Given the description of an element on the screen output the (x, y) to click on. 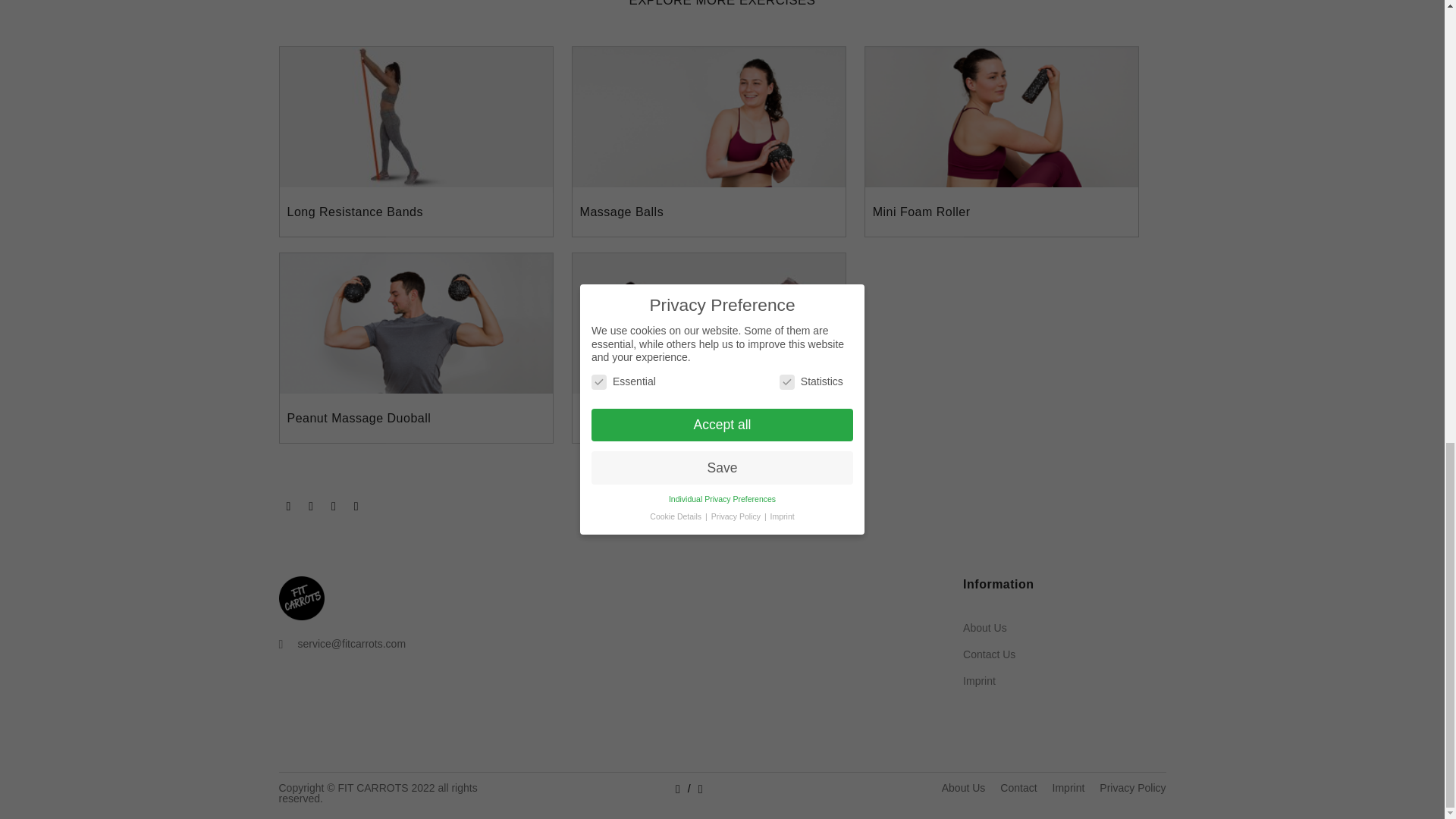
Massage Balls (621, 211)
Long Resistance Bands (354, 211)
